Given the description of an element on the screen output the (x, y) to click on. 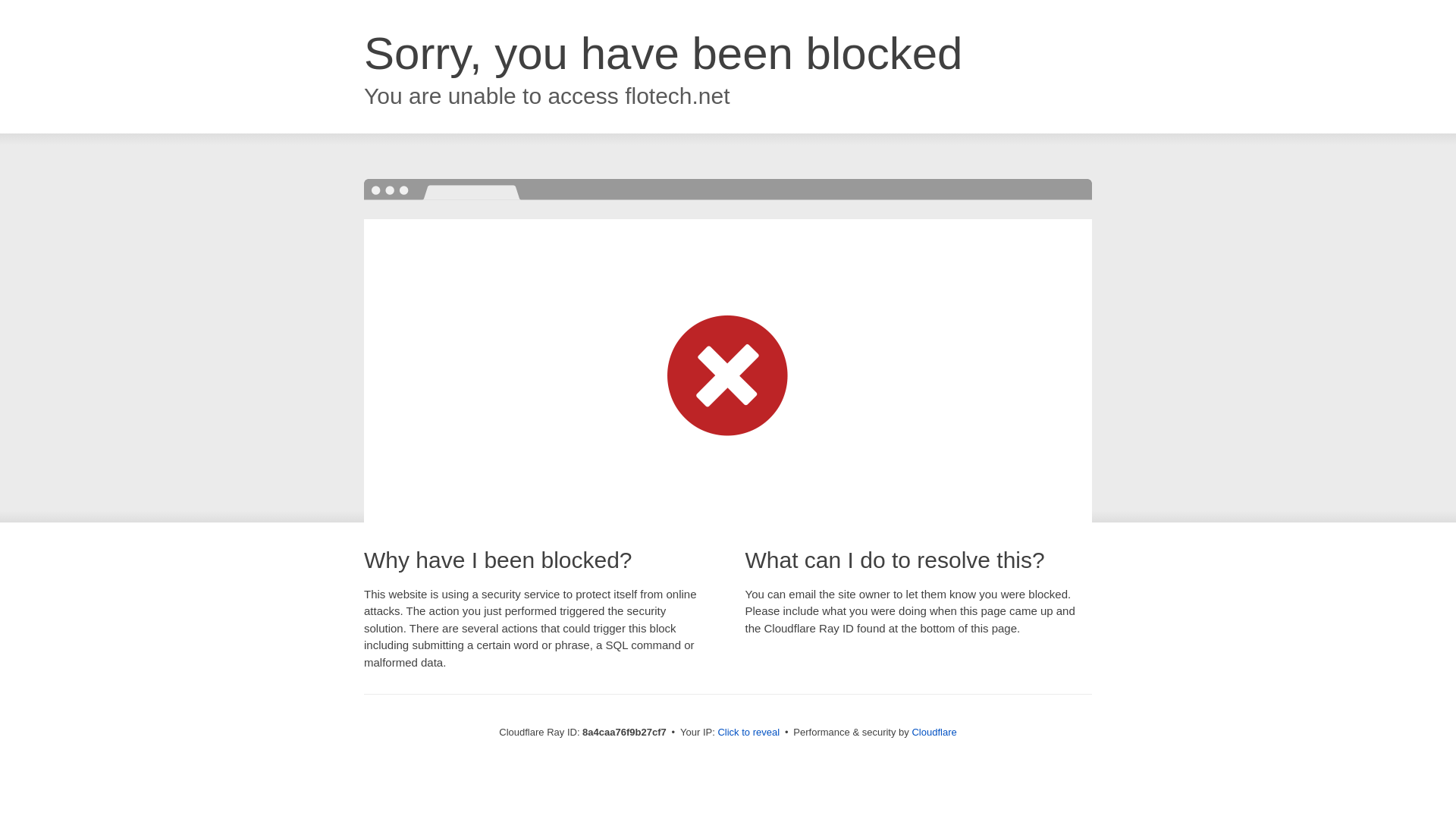
Cloudflare (933, 731)
Click to reveal (747, 732)
